Given the description of an element on the screen output the (x, y) to click on. 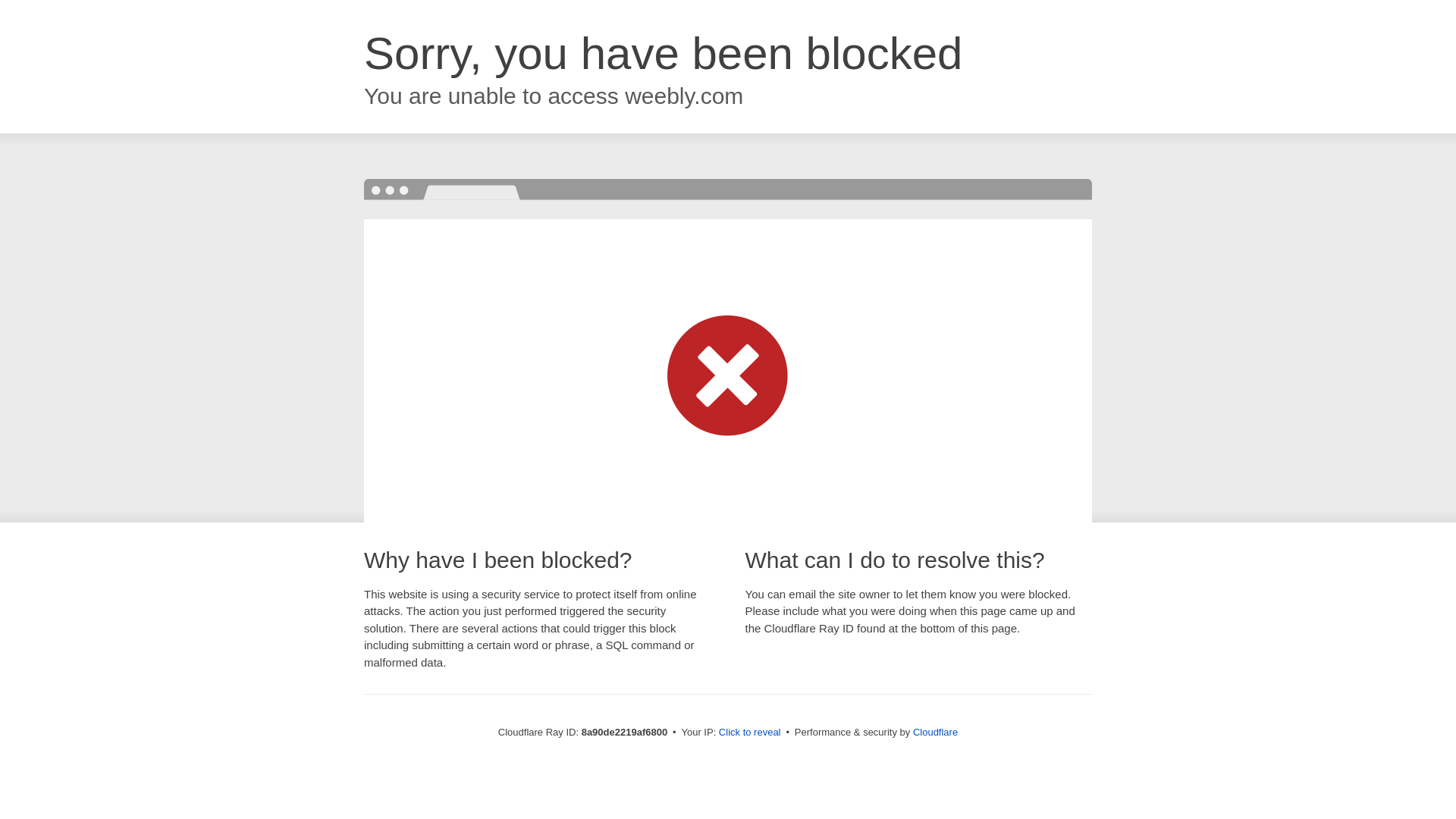
Cloudflare (935, 731)
Click to reveal (749, 732)
